Given the description of an element on the screen output the (x, y) to click on. 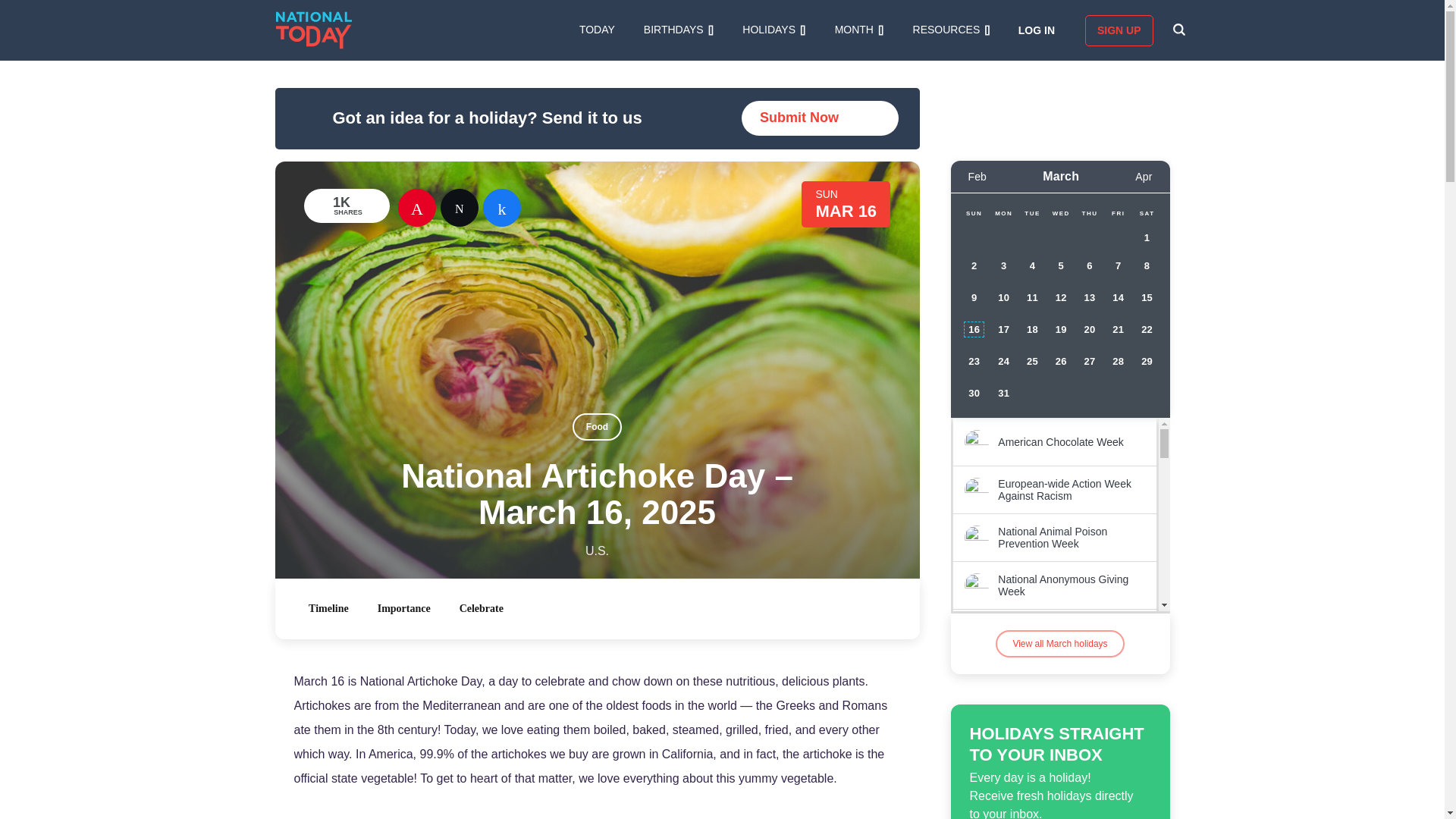
Sunday (973, 213)
MONTH (858, 29)
Saturday (1147, 213)
Thursday (1089, 213)
Wednesday (1060, 213)
HOLIDAYS (773, 29)
National Today (314, 30)
Tuesday (1032, 213)
TODAY (596, 29)
Monday (1003, 213)
Friday (1118, 213)
BIRTHDAYS (678, 29)
National Today (314, 30)
SEARCH (1178, 29)
